Given the description of an element on the screen output the (x, y) to click on. 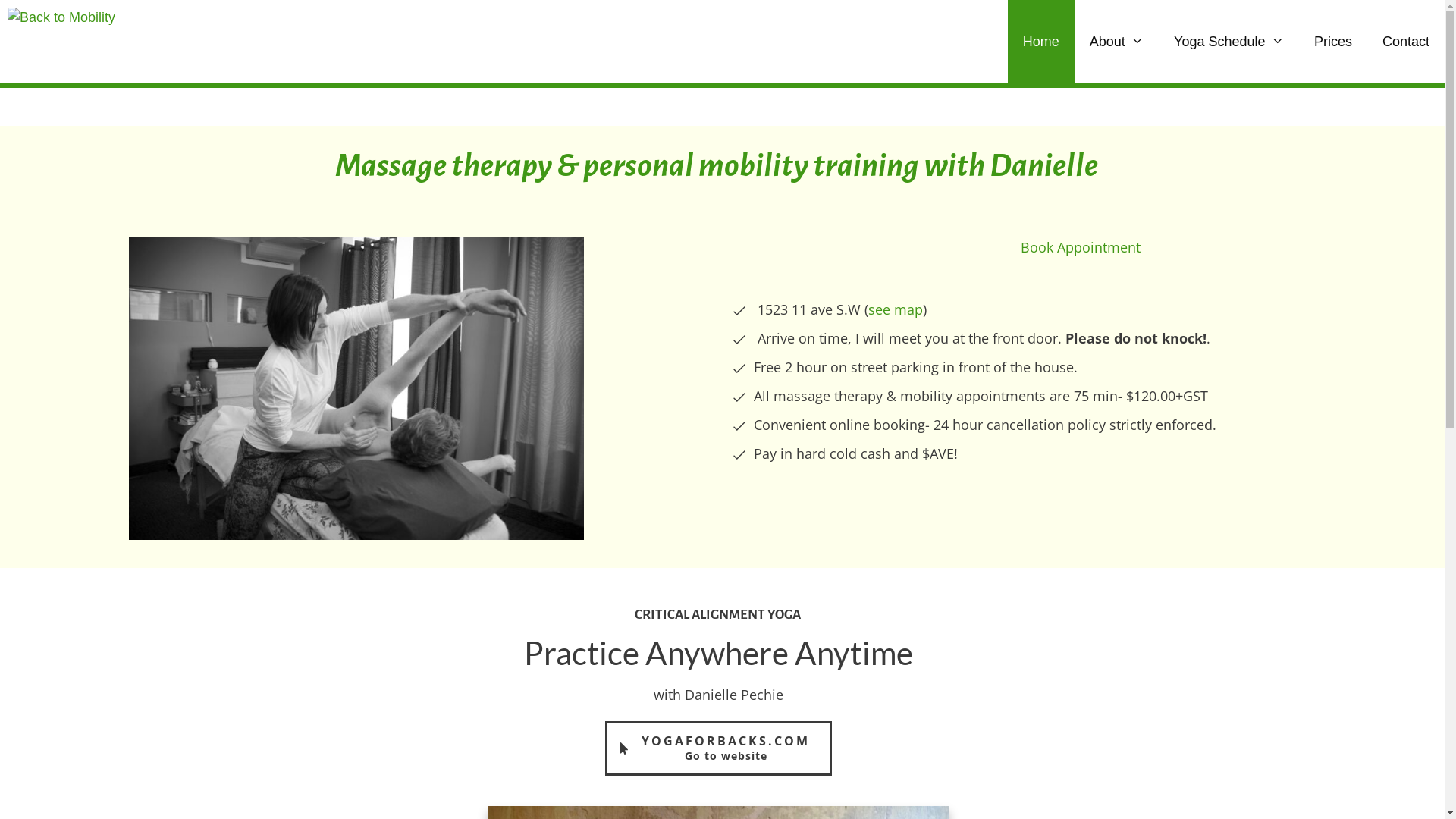
Yoga Schedule Element type: text (1228, 41)
Back to Mobility Element type: hover (64, 41)
Contact Element type: text (1405, 41)
Book Appointment Element type: text (1080, 247)
YOGAFORBACKS.COM
Go to website Element type: text (718, 748)
About Element type: text (1116, 41)
see map Element type: text (895, 309)
Back to Mobility Element type: hover (61, 41)
Home Element type: text (1040, 41)
187A5982 Element type: hover (355, 387)
Prices Element type: text (1333, 41)
